Given the description of an element on the screen output the (x, y) to click on. 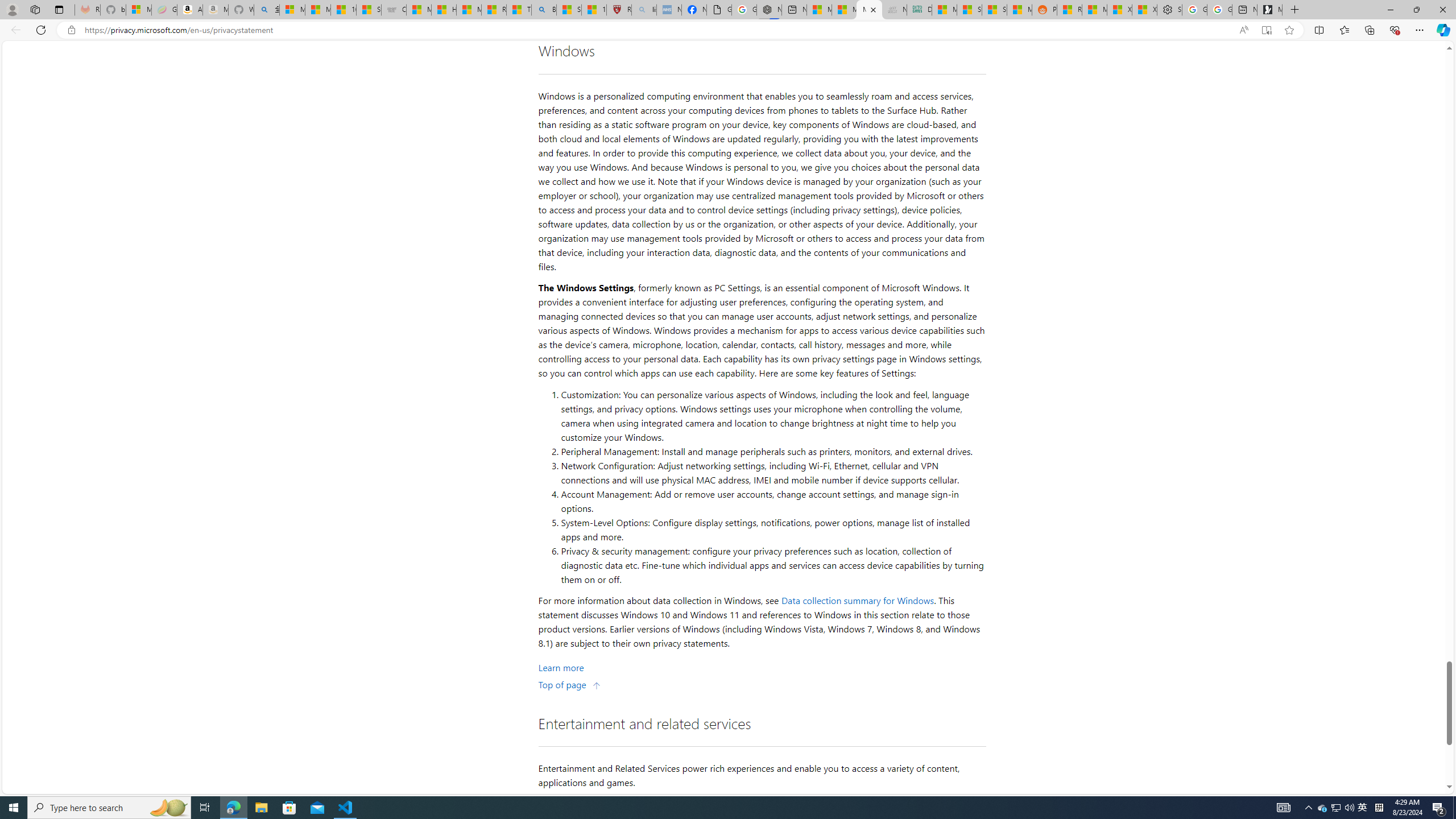
Science - MSN (568, 9)
Robert H. Shmerling, MD - Harvard Health (618, 9)
Combat Siege (393, 9)
MSN (1018, 9)
Microsoft Start Gaming (1269, 9)
